Given the description of an element on the screen output the (x, y) to click on. 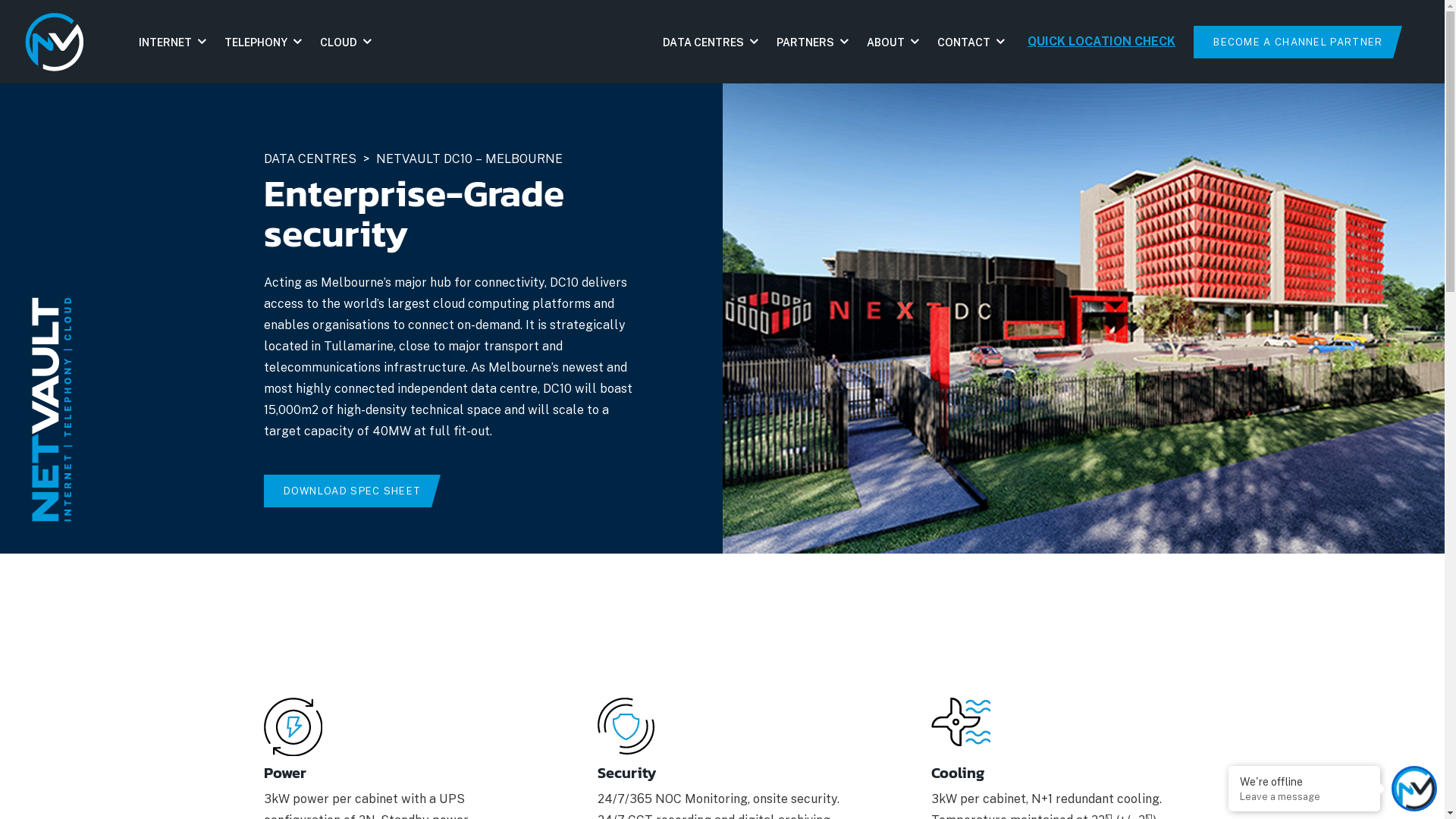
INTERNET Element type: text (172, 40)
QUICK LOCATION CHECK Element type: text (1101, 40)
DOWNLOAD SPEC SHEET Element type: text (347, 490)
CLOUD Element type: text (345, 40)
DATA CENTRES Element type: text (710, 40)
TELEPHONY Element type: text (262, 40)
ABOUT Element type: text (892, 40)
CONTACT Element type: text (970, 40)
PARTNERS Element type: text (812, 40)
BECOME A CHANNEL PARTNER Element type: text (1293, 41)
